Given the description of an element on the screen output the (x, y) to click on. 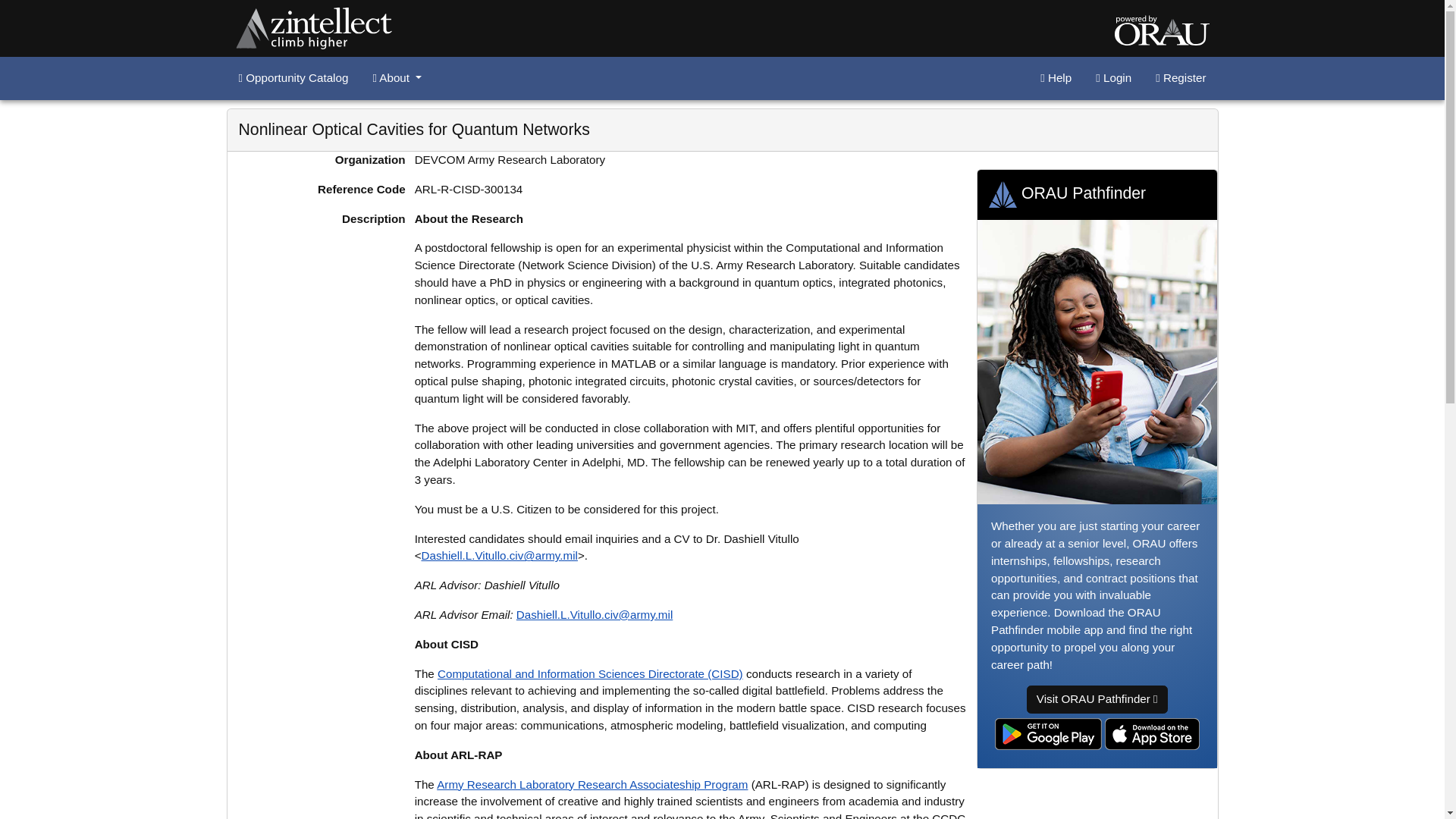
Visit ORAU Pathfinder (1096, 699)
About (396, 78)
Army Research Laboratory Research Associateship Program (592, 784)
Opportunity Catalog (292, 78)
Login (1112, 78)
Help (1055, 78)
Powered by ORAU (1161, 30)
Register (1179, 78)
